Given the description of an element on the screen output the (x, y) to click on. 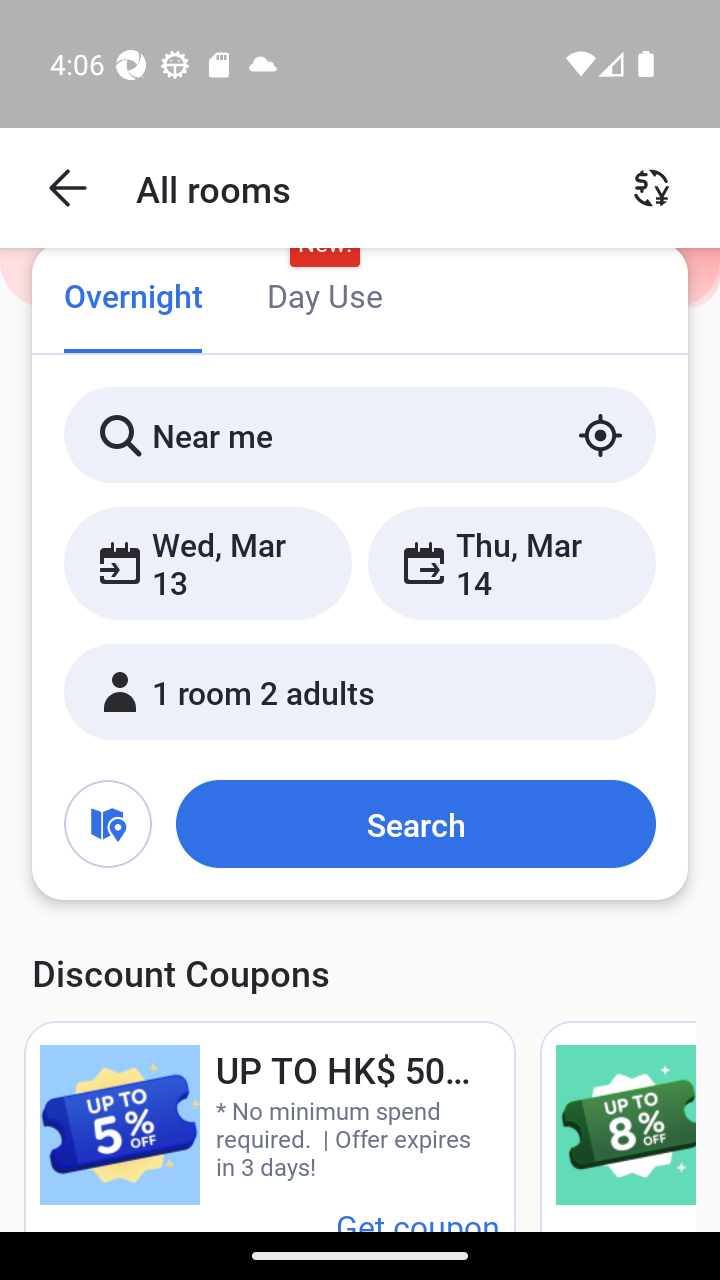
Day Use (324, 298)
Near me (359, 434)
Wed, Mar 13 (208, 562)
Thu, Mar 14 (511, 562)
1 room 2 adults (359, 691)
Search (415, 823)
